Given the description of an element on the screen output the (x, y) to click on. 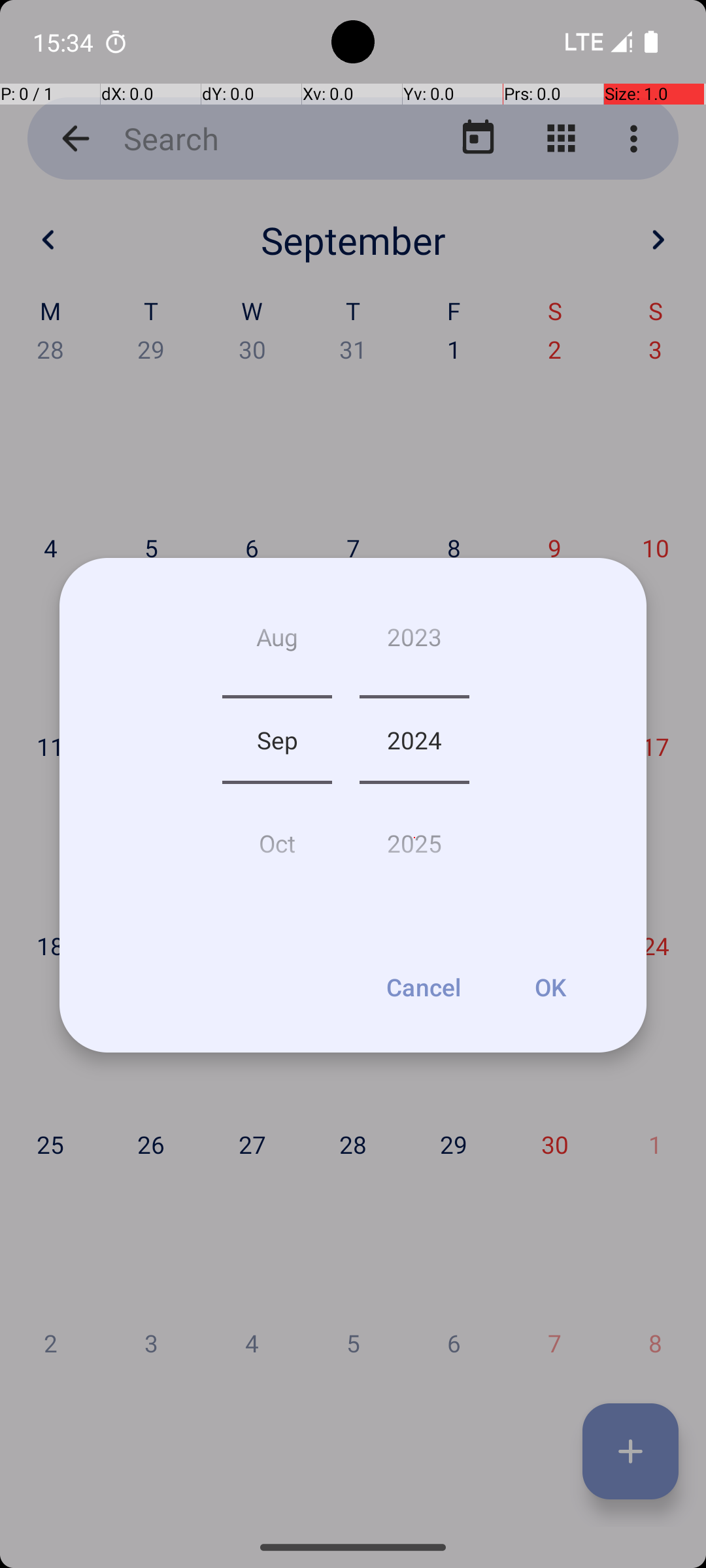
Aug Element type: android.widget.Button (277, 641)
2025 Element type: android.widget.Button (414, 837)
